Given the description of an element on the screen output the (x, y) to click on. 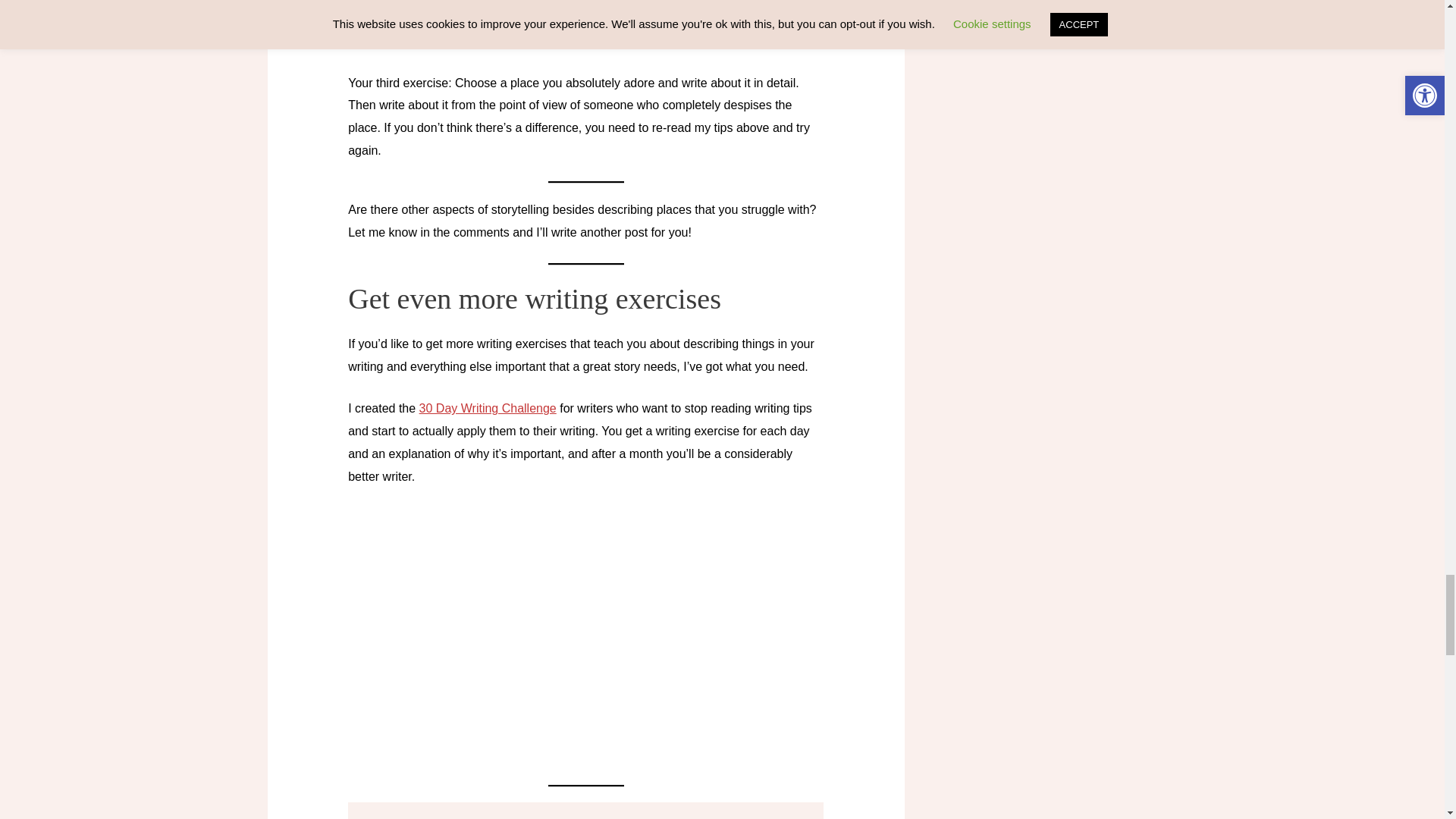
30 Day Writing Challenge (487, 408)
